Given the description of an element on the screen output the (x, y) to click on. 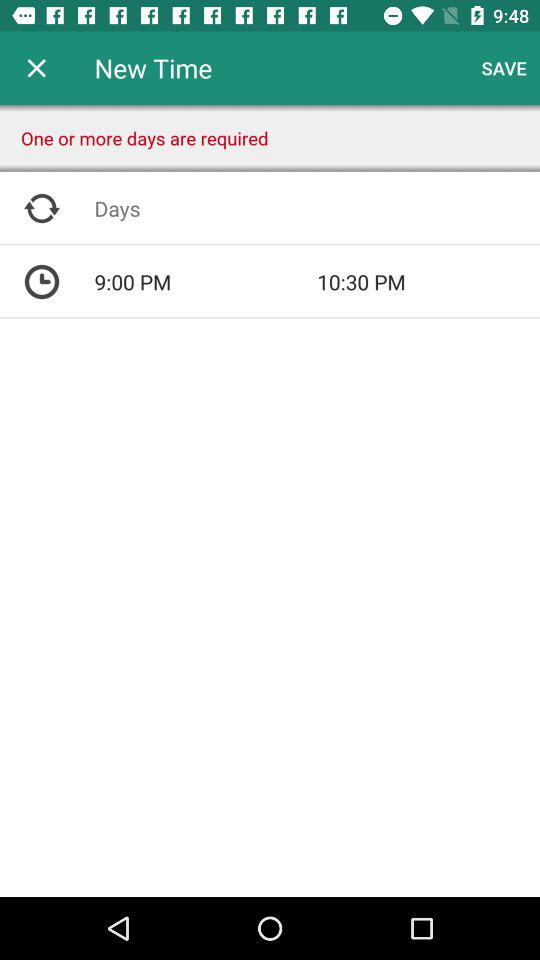
enter one or more days (317, 208)
